Given the description of an element on the screen output the (x, y) to click on. 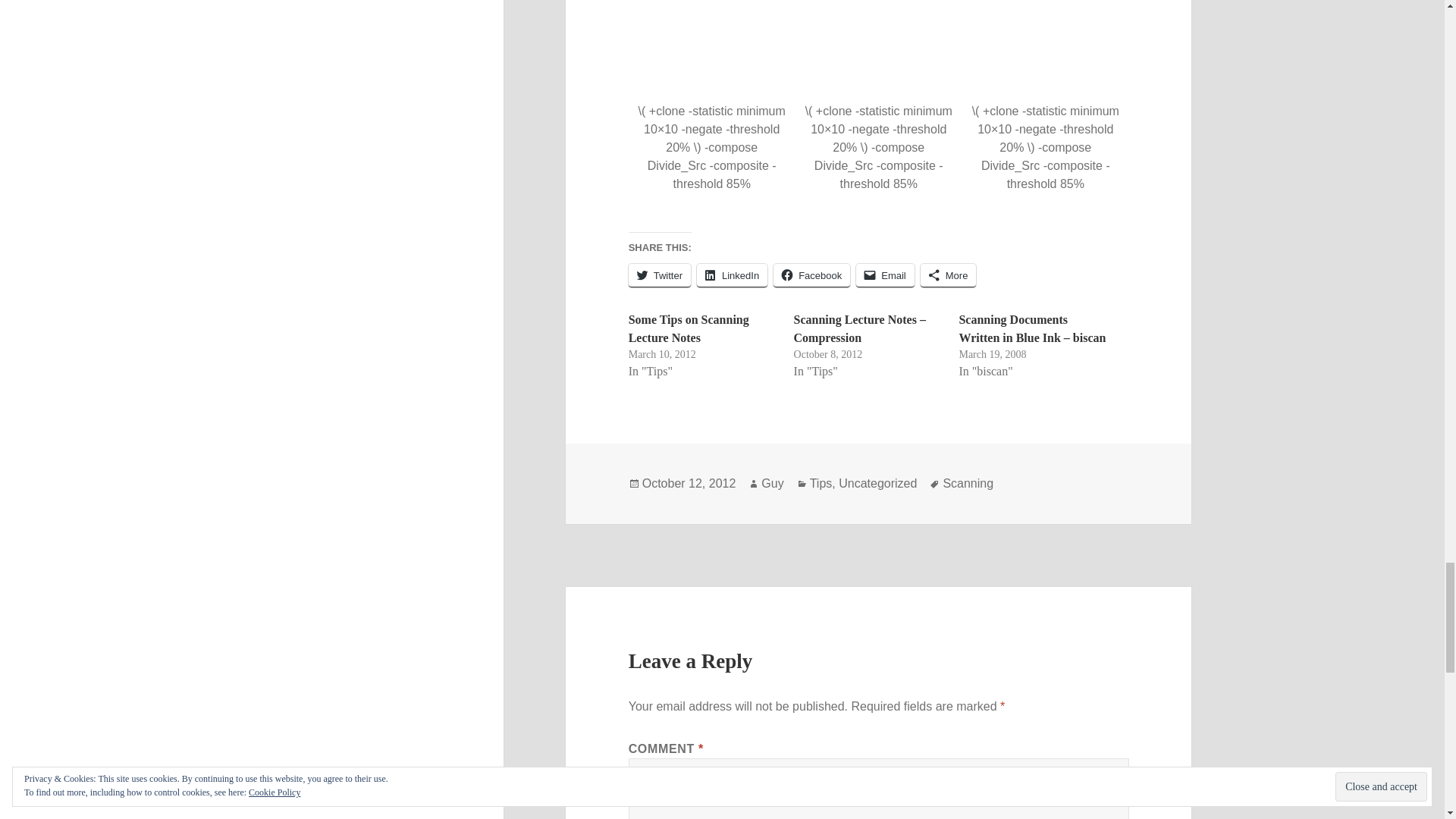
Click to share on Facebook (811, 275)
Some Tips on Scanning Lecture Notes (688, 327)
Click to share on Twitter (659, 275)
Click to email a link to a friend (885, 275)
Click to share on LinkedIn (732, 275)
